Given the description of an element on the screen output the (x, y) to click on. 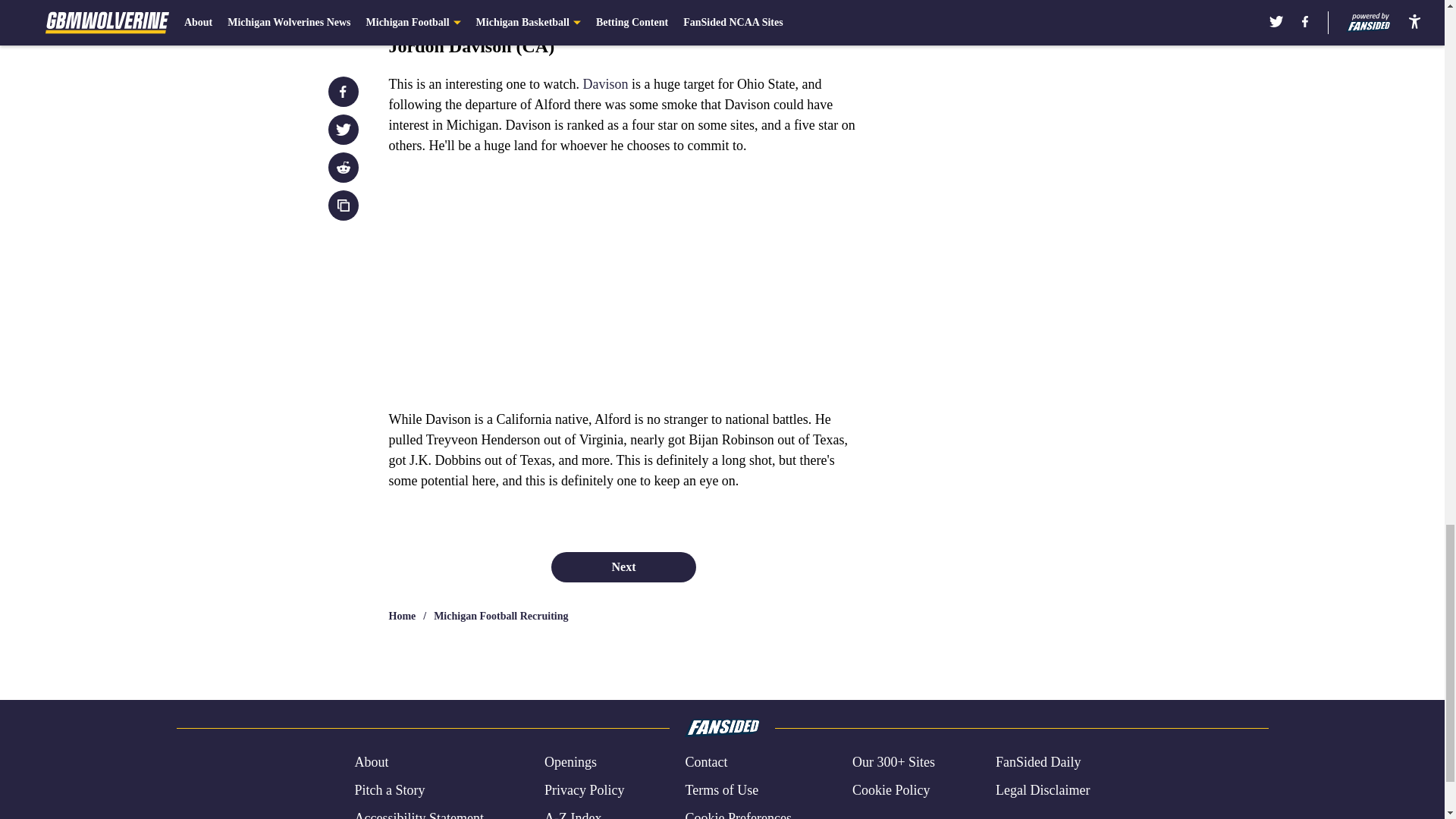
Next (622, 567)
Contact (705, 762)
FanSided Daily (1038, 762)
About (370, 762)
Pitch a Story (389, 790)
Privacy Policy (584, 790)
Davison (604, 83)
Openings (570, 762)
Terms of Use (721, 790)
Michigan Football Recruiting (500, 616)
